Given the description of an element on the screen output the (x, y) to click on. 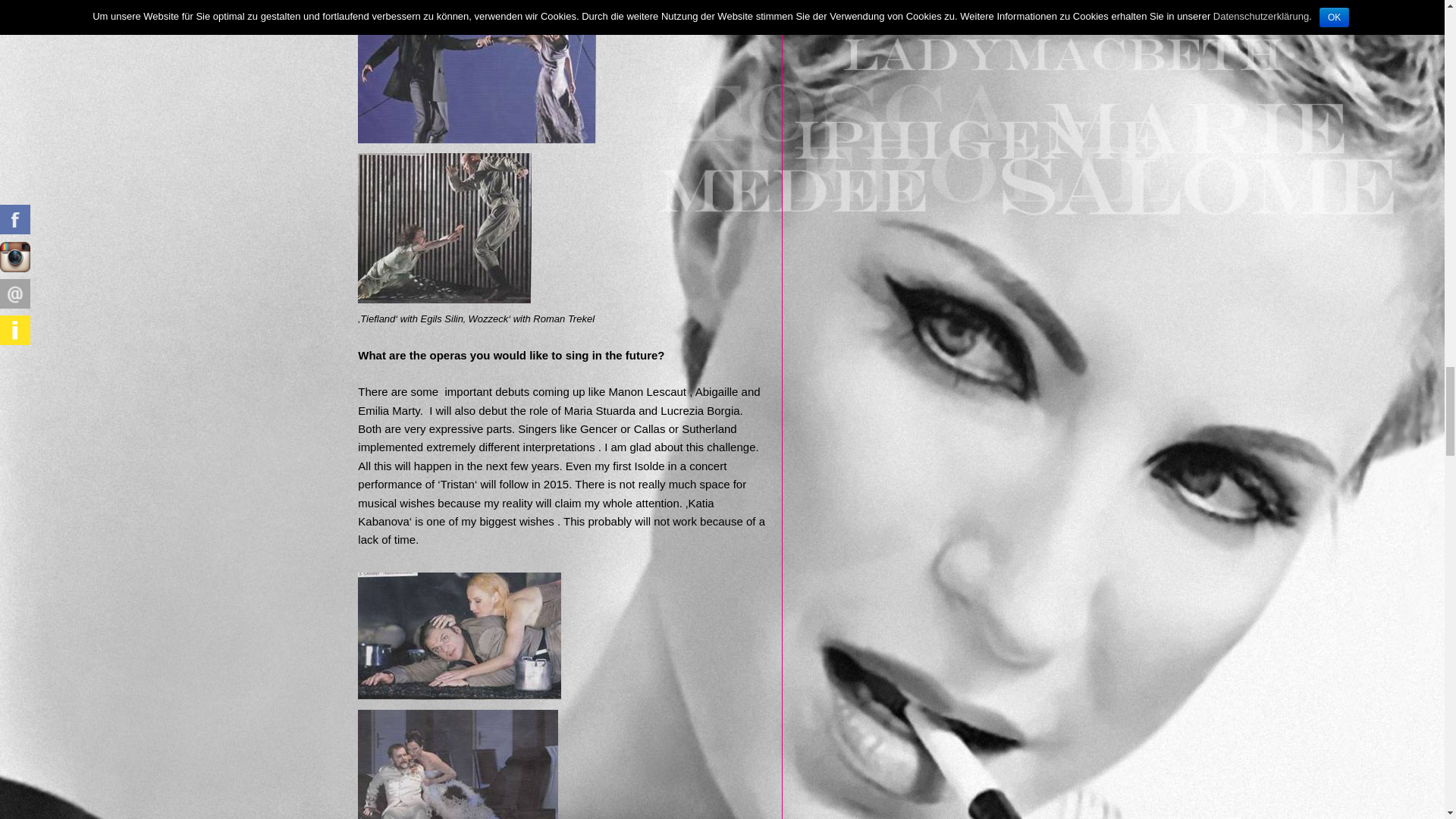
Macbeth (459, 636)
Wozzeck (444, 228)
Macbeth (457, 764)
